Given the description of an element on the screen output the (x, y) to click on. 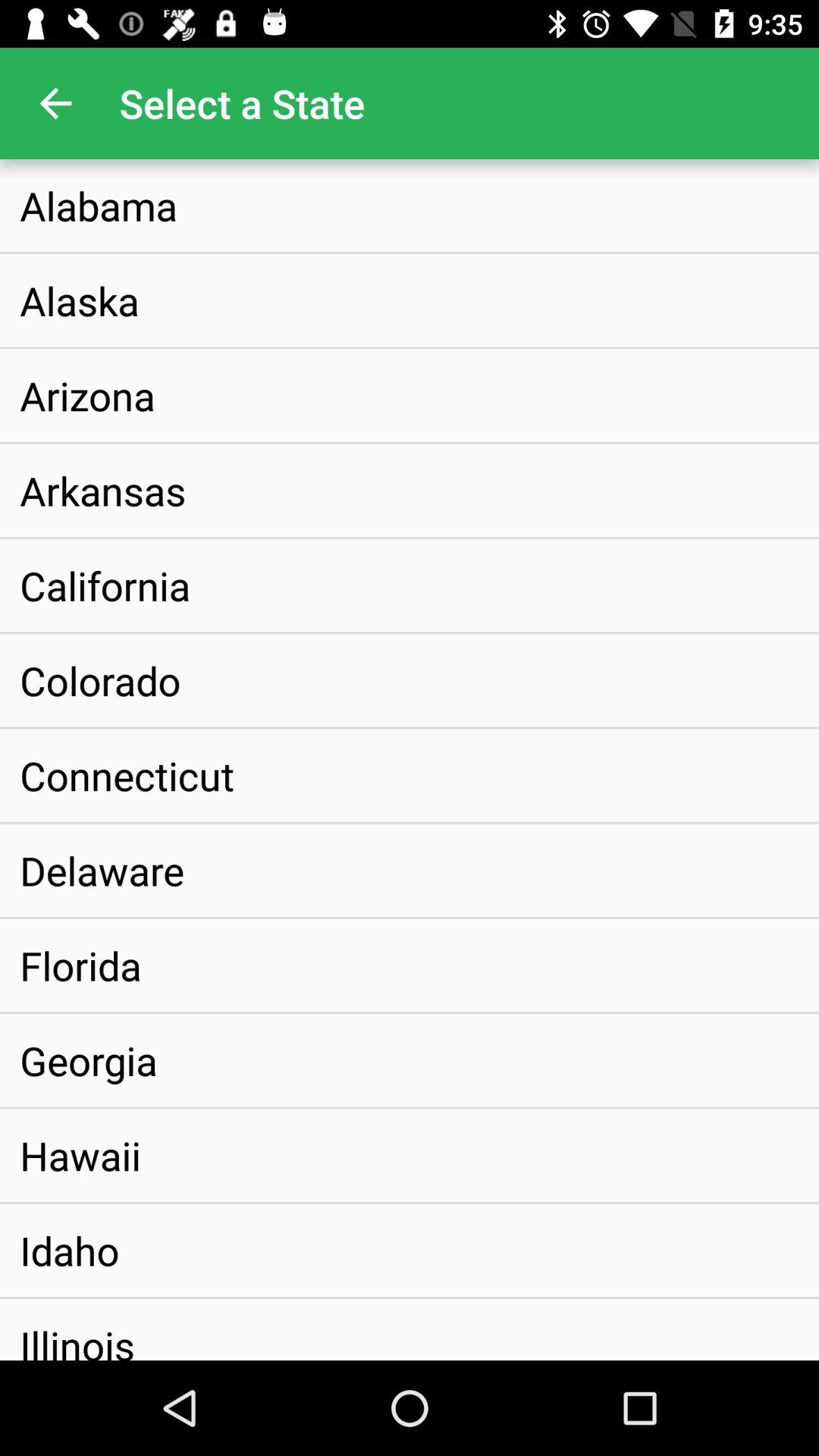
open hawaii icon (80, 1155)
